Given the description of an element on the screen output the (x, y) to click on. 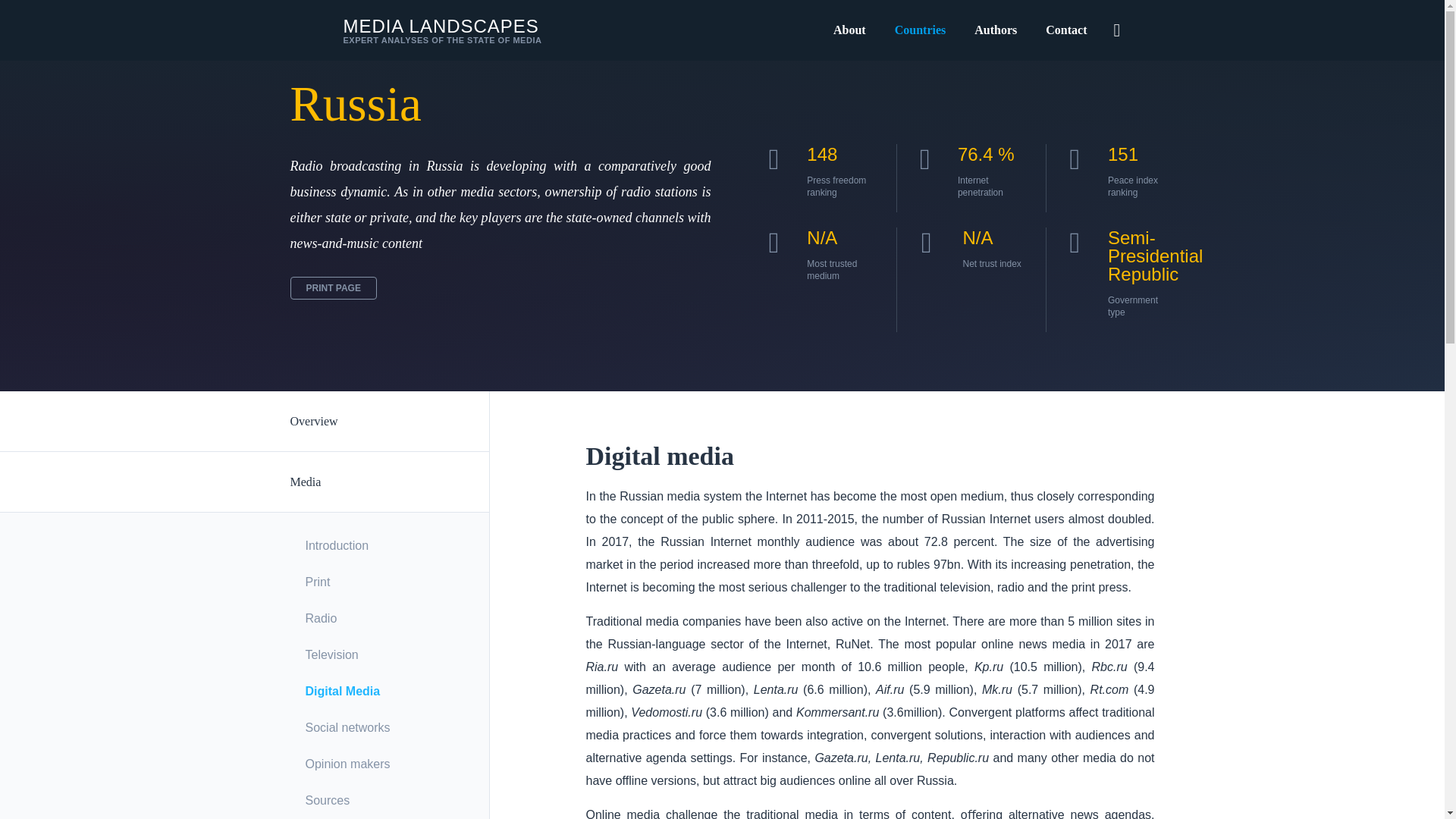
About (849, 30)
Countries (415, 30)
